Given the description of an element on the screen output the (x, y) to click on. 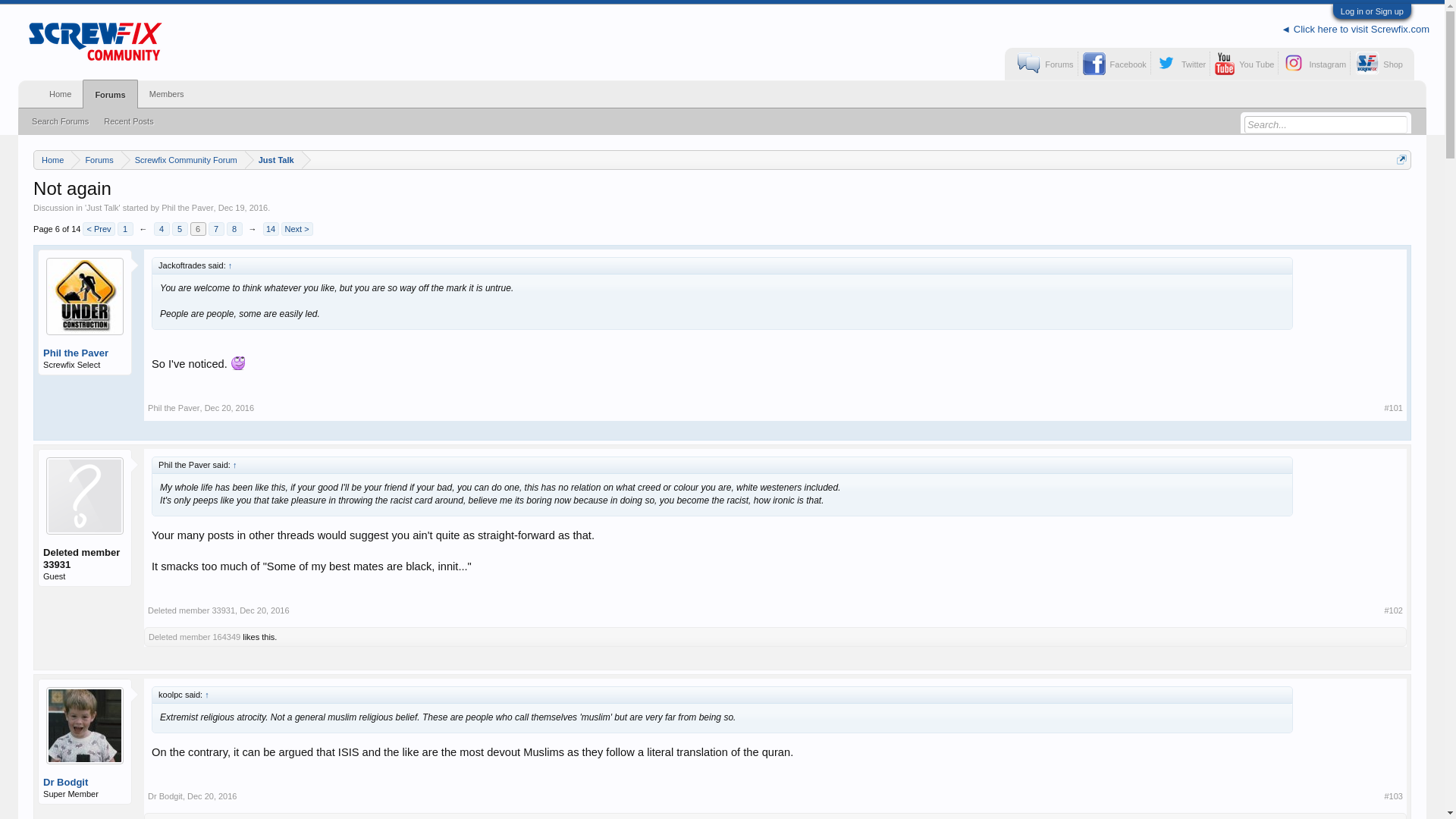
Permalink (1393, 796)
Permalink (264, 610)
8 (235, 228)
6 (198, 228)
5 (179, 228)
Forums (95, 159)
1 (125, 228)
Dec 20, 2016 (264, 610)
Screwfix Community Forum (182, 159)
Phil the Paver (186, 207)
